Given the description of an element on the screen output the (x, y) to click on. 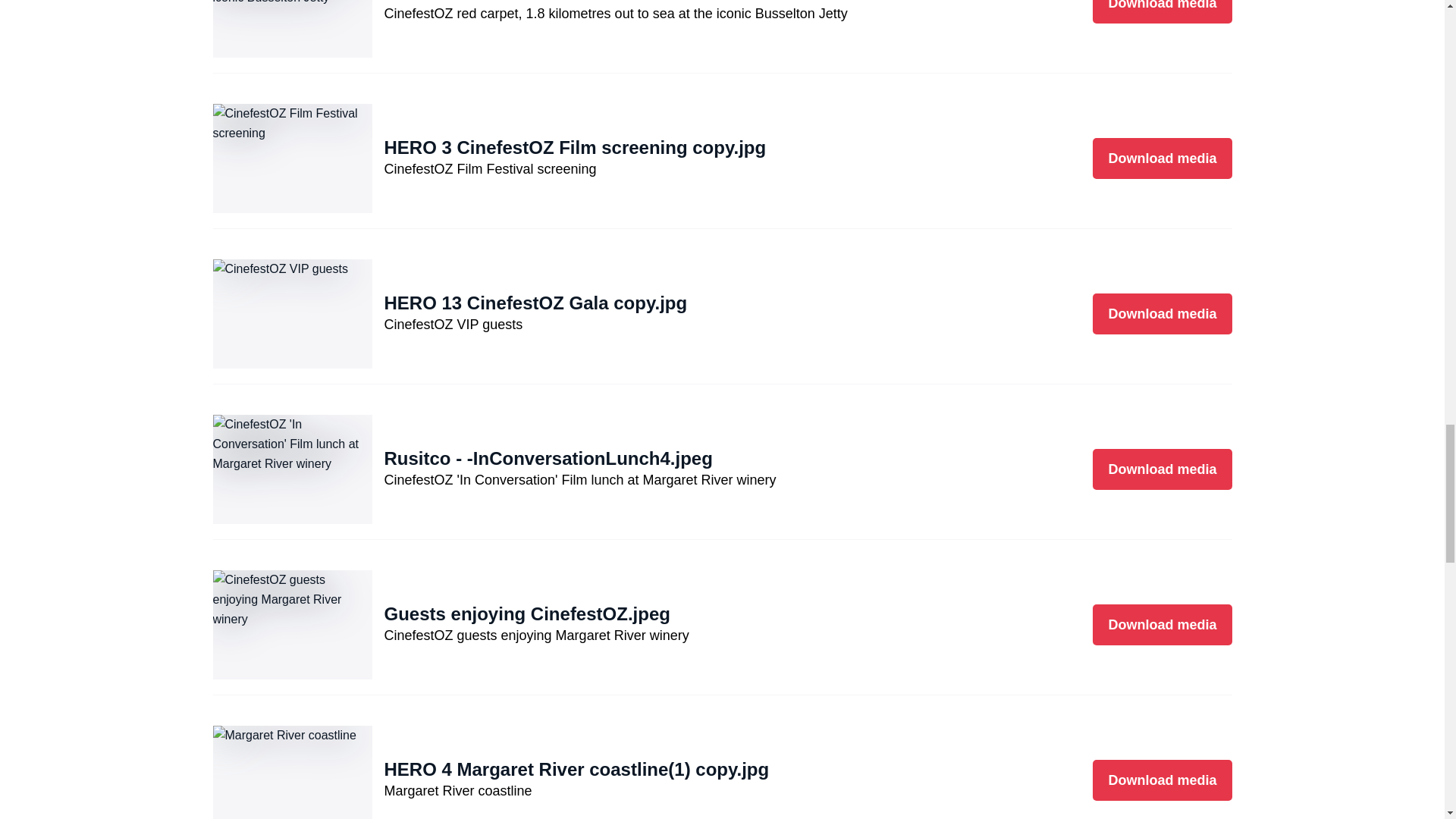
Download media (1162, 11)
Download media (1162, 313)
Download media (1162, 624)
Download media (1162, 468)
Download media (1162, 158)
Download media (1162, 780)
